Given the description of an element on the screen output the (x, y) to click on. 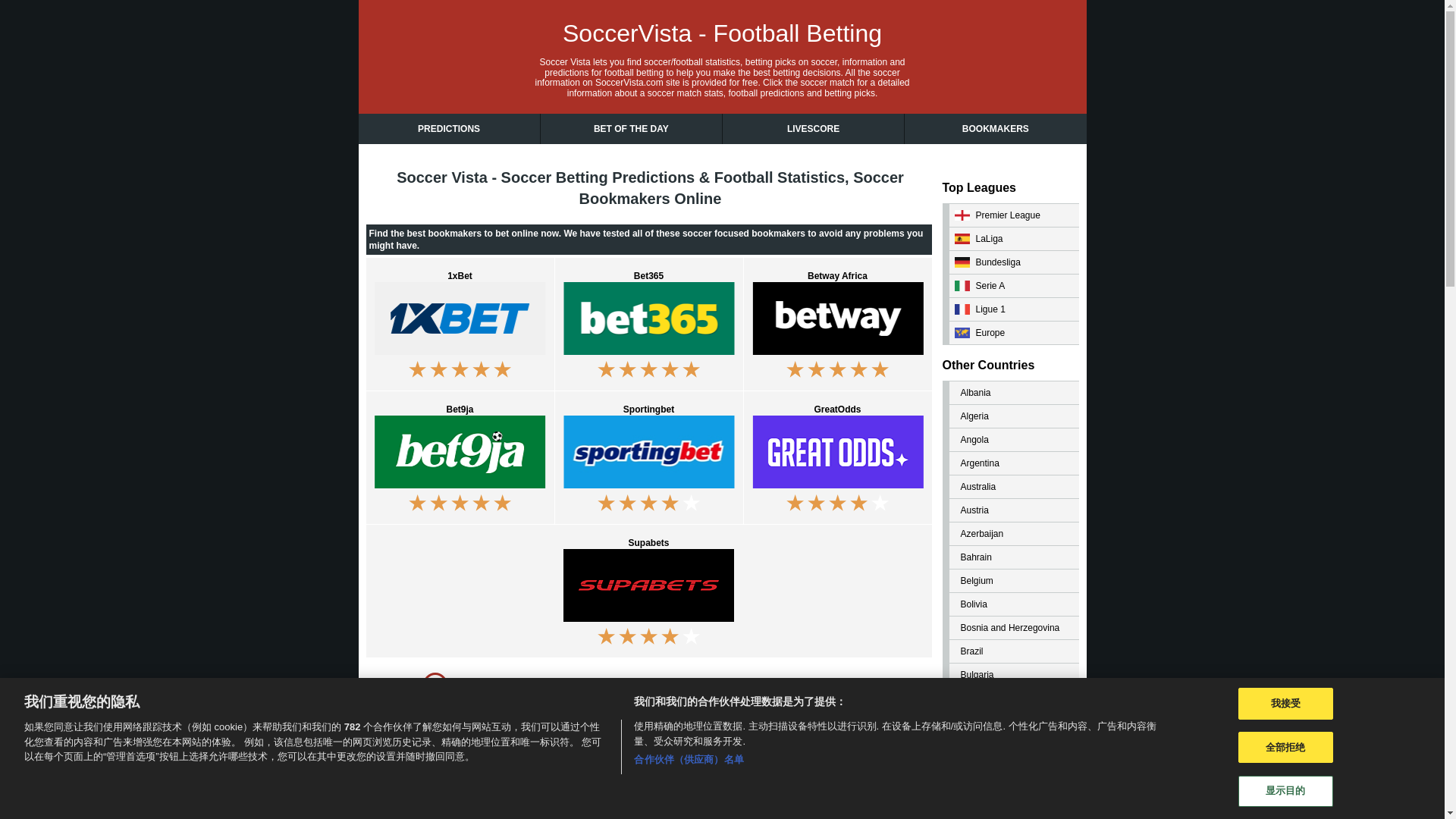
Cyprus (1010, 811)
PREDICTIONS (447, 128)
SoccerVista.com (629, 81)
Bolivia (1010, 604)
Argentina (1010, 463)
LIVESCORE (812, 128)
1xBet (459, 323)
Costa Rica (1010, 768)
Ligue 1 (1010, 309)
Bet365 (648, 323)
